Given the description of an element on the screen output the (x, y) to click on. 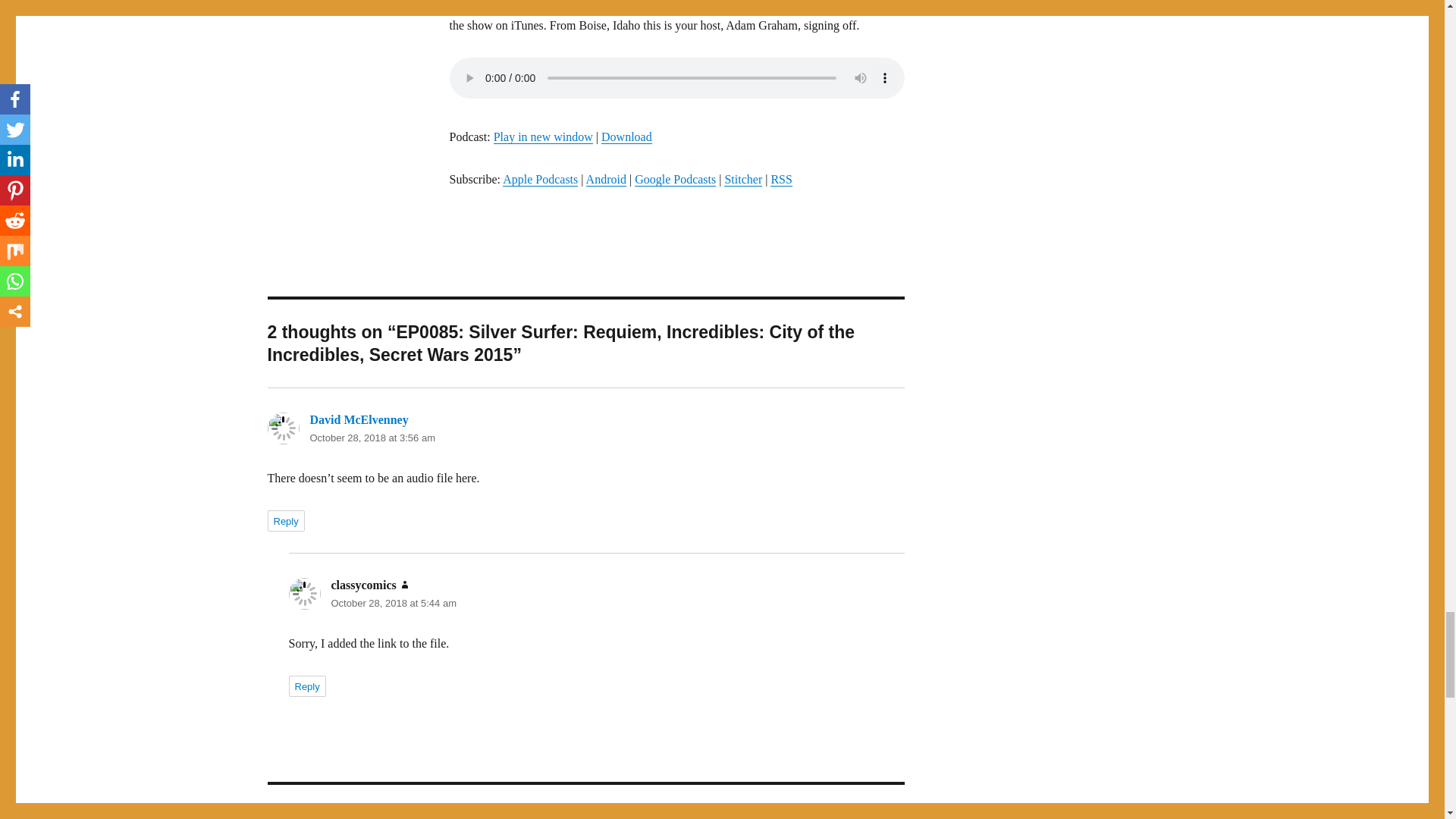
Subscribe on Google Podcasts (675, 178)
David McElvenney (357, 419)
Android (606, 178)
October 28, 2018 at 5:44 am (393, 603)
Apple Podcasts (540, 178)
Play in new window (542, 136)
Play in new window (542, 136)
Reply (306, 685)
Google Podcasts (675, 178)
Download (626, 136)
